Given the description of an element on the screen output the (x, y) to click on. 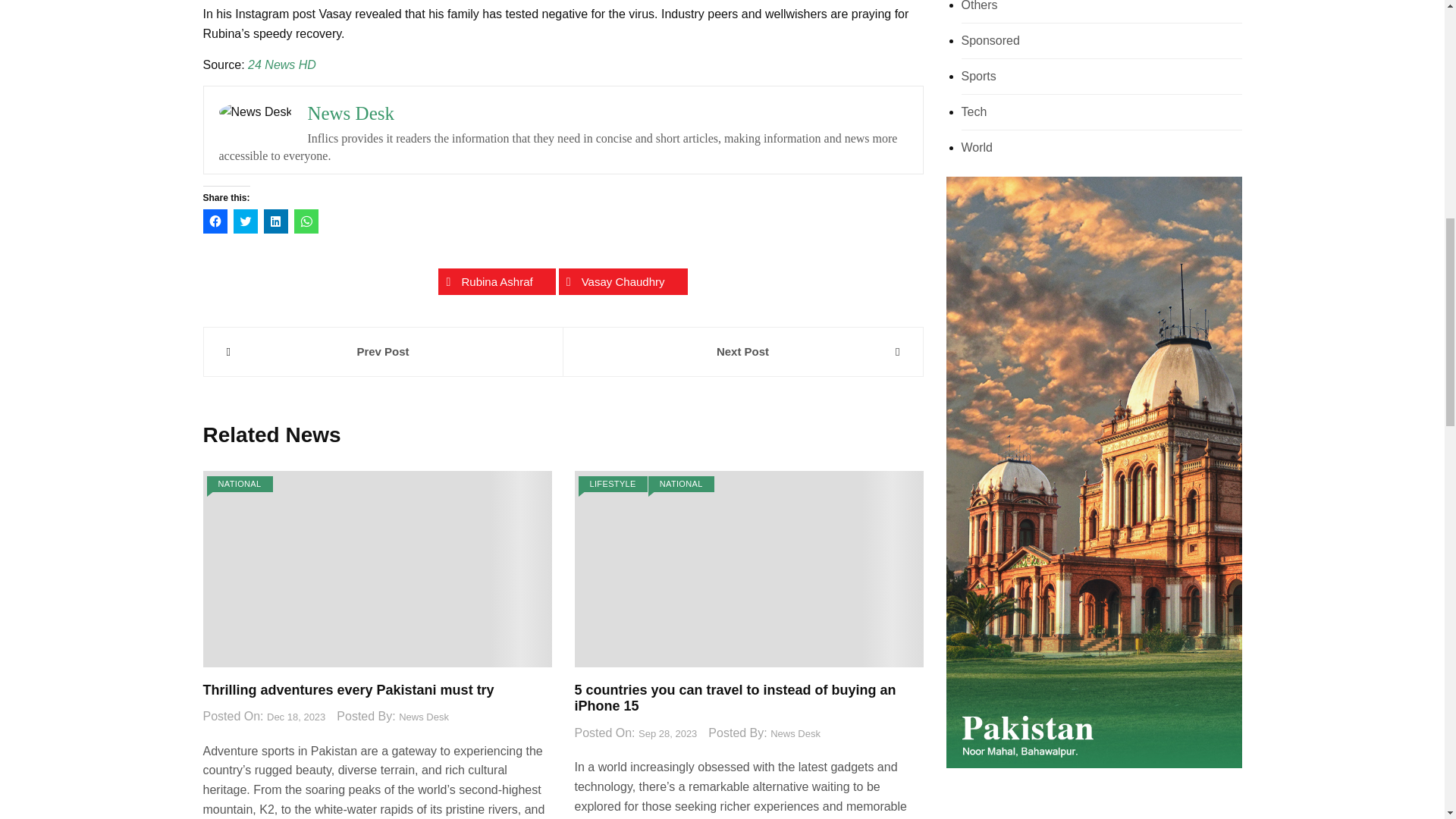
News Desk (350, 113)
Click to share on WhatsApp (306, 221)
Click to share on LinkedIn (275, 221)
Prev Post (381, 352)
24 News HD (281, 64)
Next Post (742, 352)
Click to share on Facebook (215, 221)
Rubina Ashraf (496, 281)
Vasay Chaudhry (623, 281)
Click to share on Twitter (244, 221)
